Given the description of an element on the screen output the (x, y) to click on. 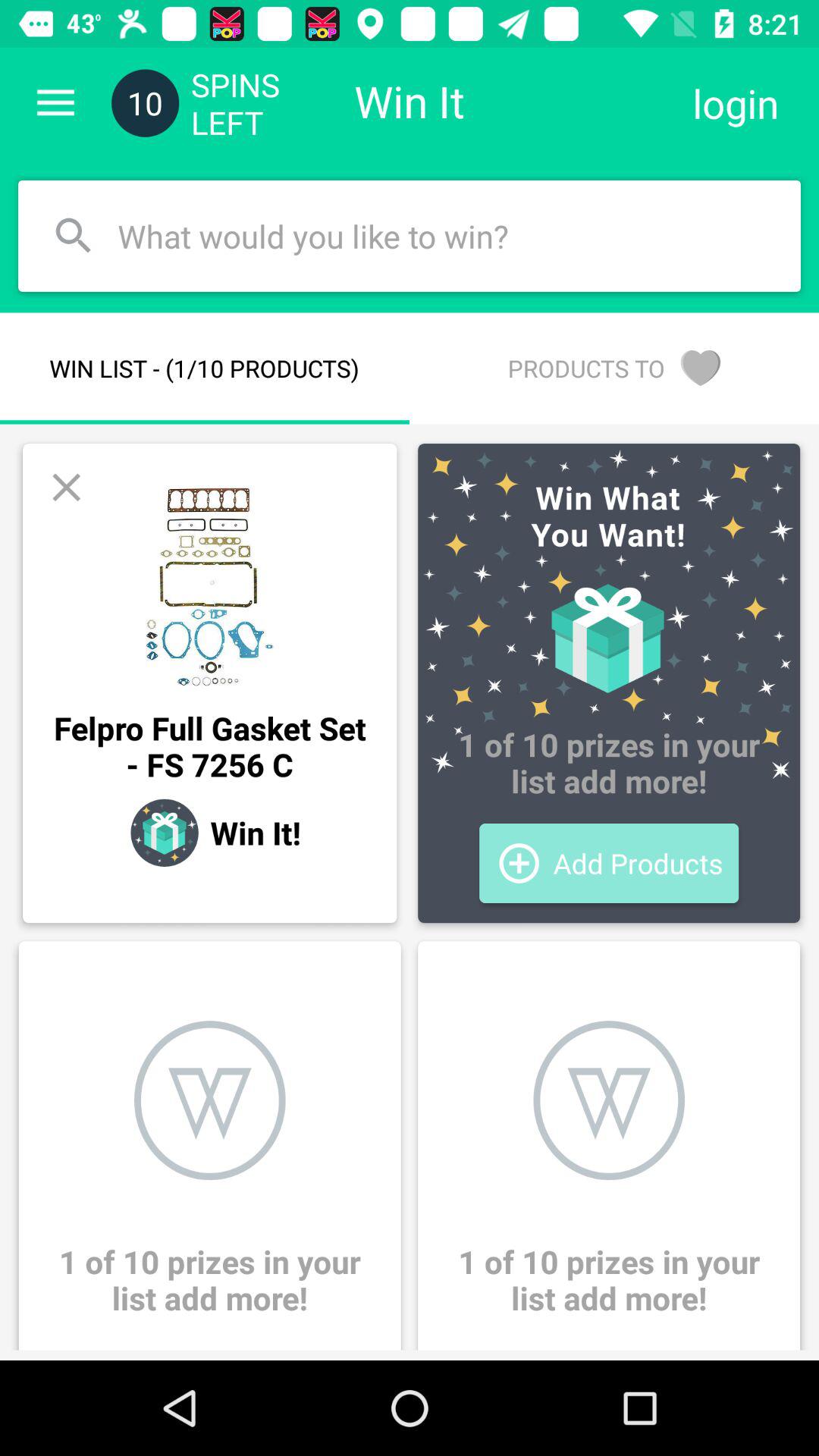
turn on the icon next to the win it item (735, 102)
